Given the description of an element on the screen output the (x, y) to click on. 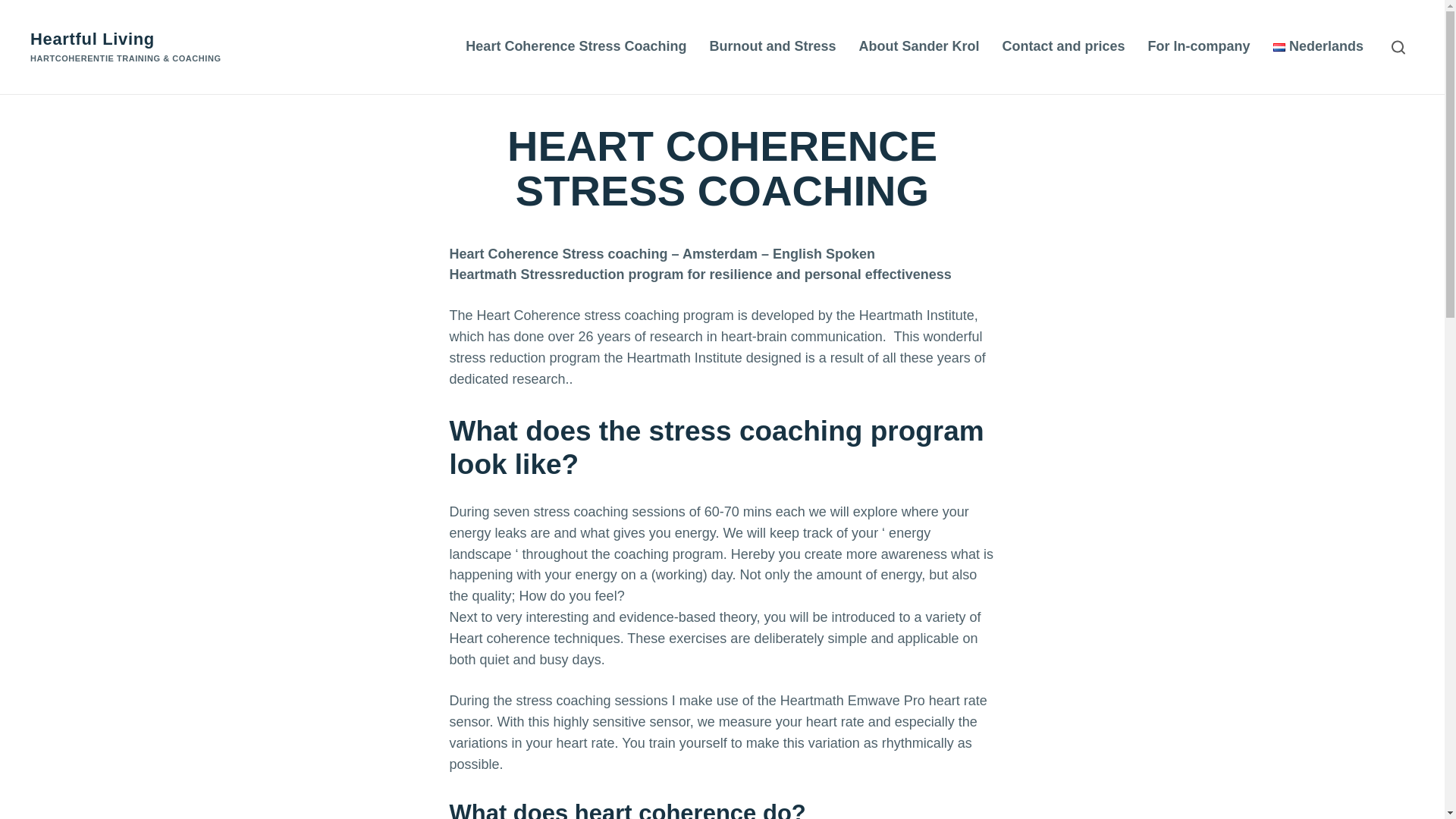
Burnout and Stress (772, 46)
Nederlands (1318, 46)
Contact and prices (1062, 46)
Heart Coherence Stress Coaching (575, 46)
About Sander Krol (918, 46)
For In-company (1198, 46)
